Given the description of an element on the screen output the (x, y) to click on. 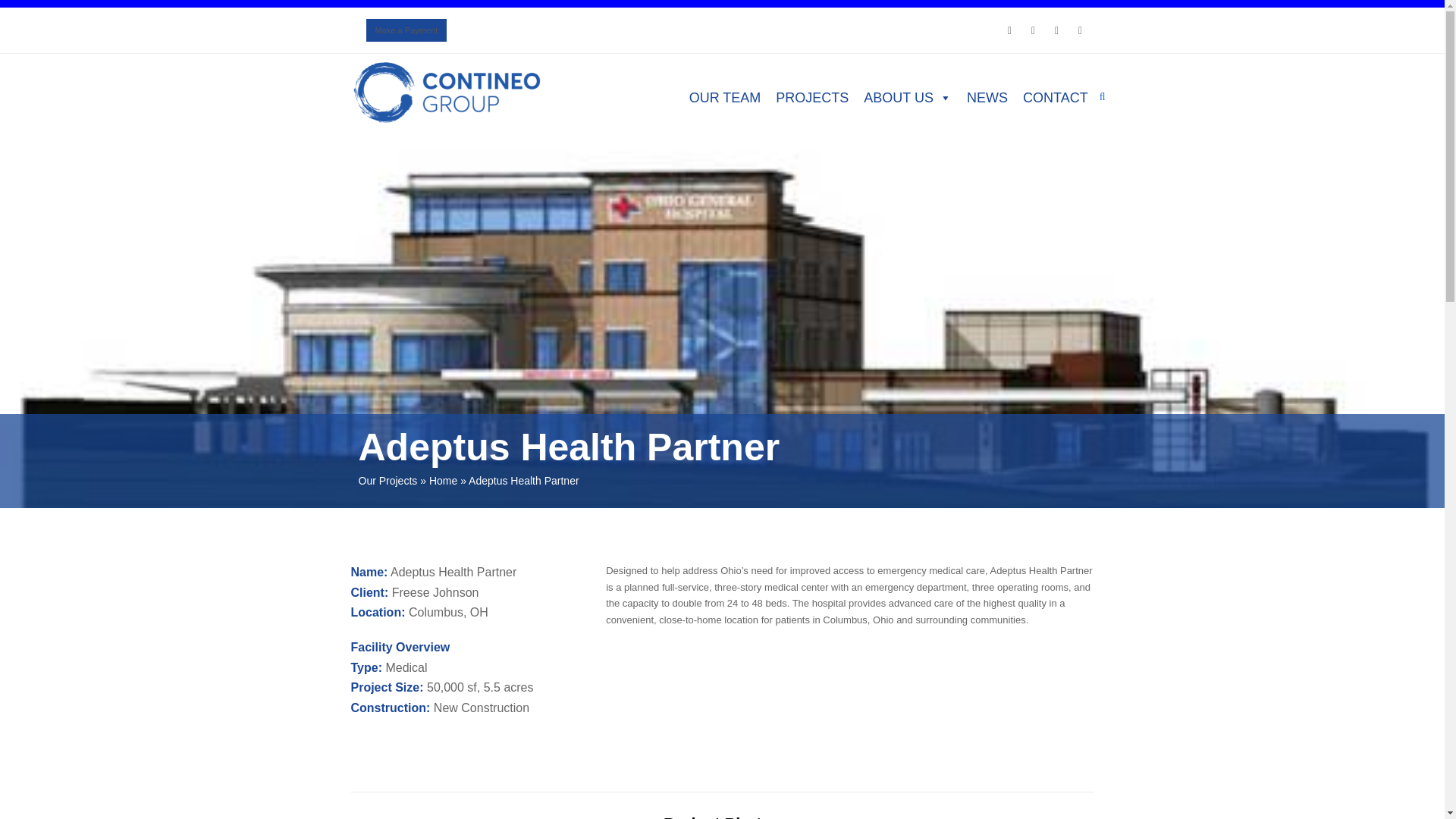
PROJECTS (812, 97)
Instagram (1055, 30)
CONTACT (1055, 97)
Our Projects (387, 480)
OUR TEAM (724, 97)
Make a Payment (405, 29)
Twitter (1008, 30)
Home (443, 480)
NEWS (986, 97)
ABOUT US (907, 97)
Facebook (1032, 30)
LinkedIn (1079, 30)
Twitter (1008, 30)
Facebook (1032, 30)
LinkedIn (1079, 30)
